Given the description of an element on the screen output the (x, y) to click on. 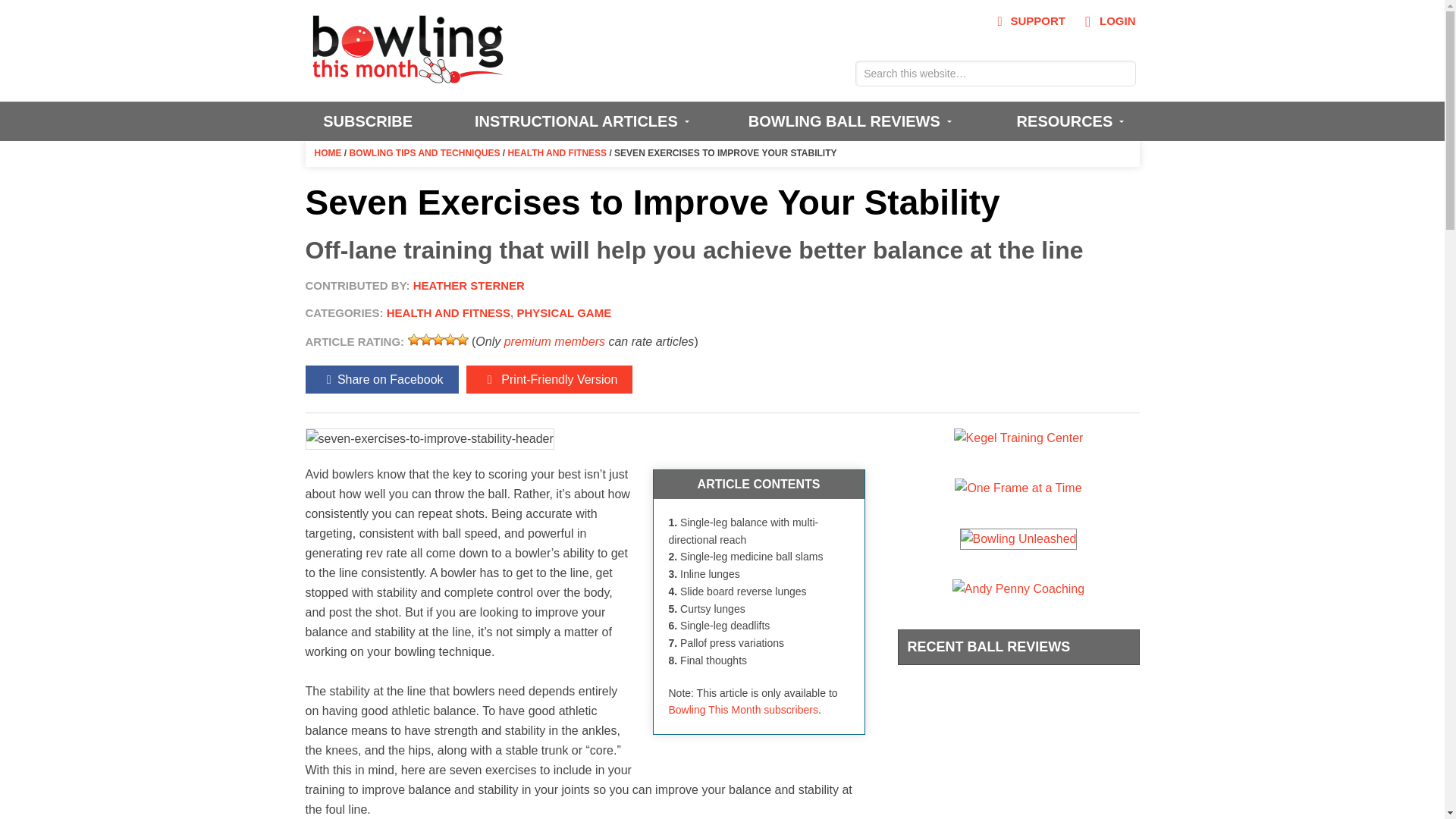
Instructional Articles (579, 120)
BOWLING BALL REVIEWS (847, 120)
6 votes, average: 5.00 out of 5 (438, 339)
6 votes, average: 5.00 out of 5 (426, 339)
6 votes, average: 5.00 out of 5 (413, 339)
SUBSCRIBE (367, 120)
Bowling This Month (407, 75)
INSTRUCTIONAL ARTICLES (579, 120)
SUPPORT (1028, 21)
LOGIN (1106, 21)
Bowling Ball Reviews (847, 120)
Posts by Heather Sterner (468, 285)
